Given the description of an element on the screen output the (x, y) to click on. 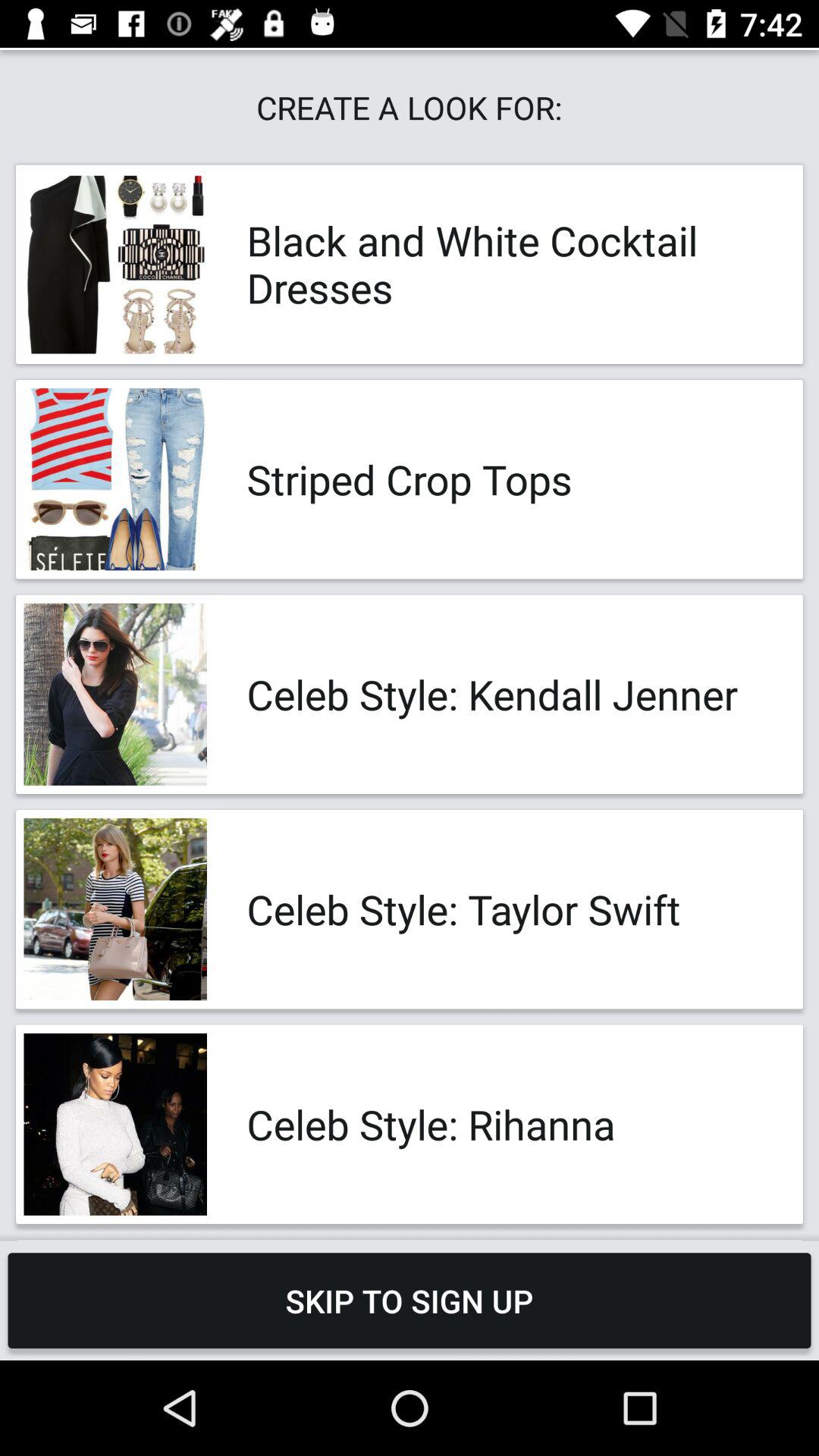
tap the skip to sign (409, 1300)
